Given the description of an element on the screen output the (x, y) to click on. 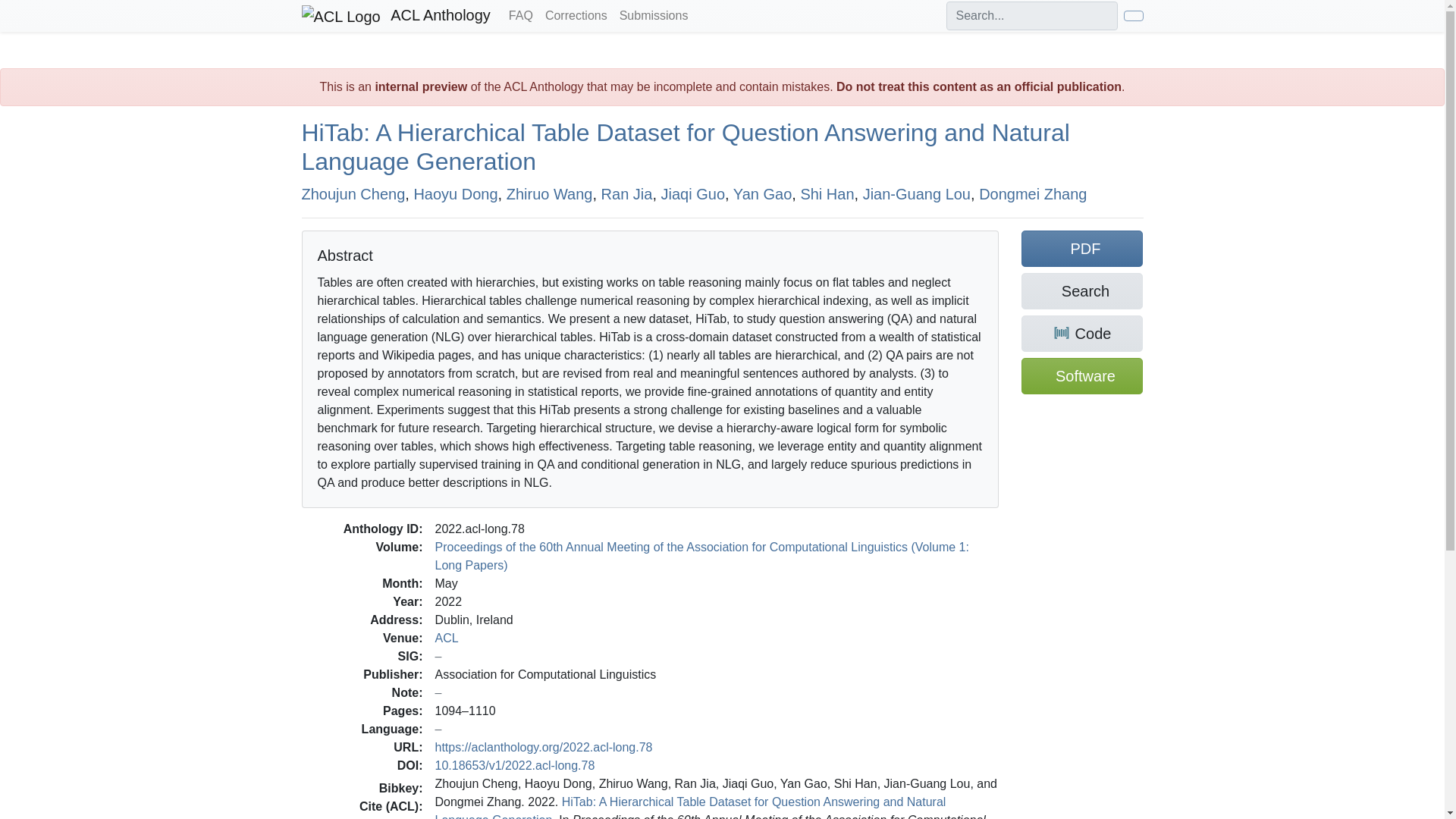
ACL (446, 636)
Yan Gao (762, 193)
Jiaqi Guo (693, 193)
To the current version of the paper by DOI (515, 764)
Ran Jia (626, 193)
Shi Han (826, 193)
Dongmei Zhang (1032, 193)
